Given the description of an element on the screen output the (x, y) to click on. 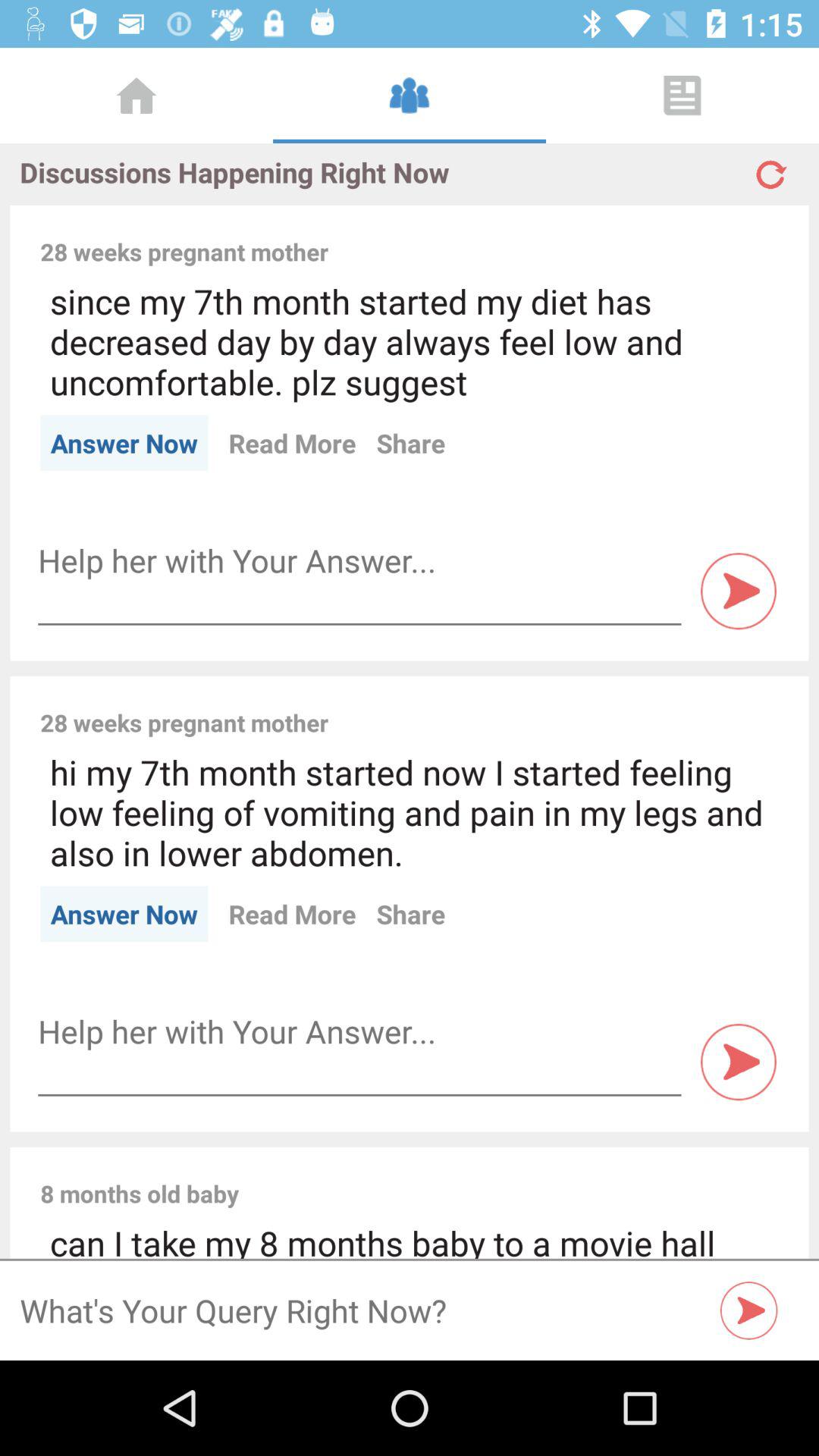
choose icon next to the 8 months old icon (518, 1176)
